Given the description of an element on the screen output the (x, y) to click on. 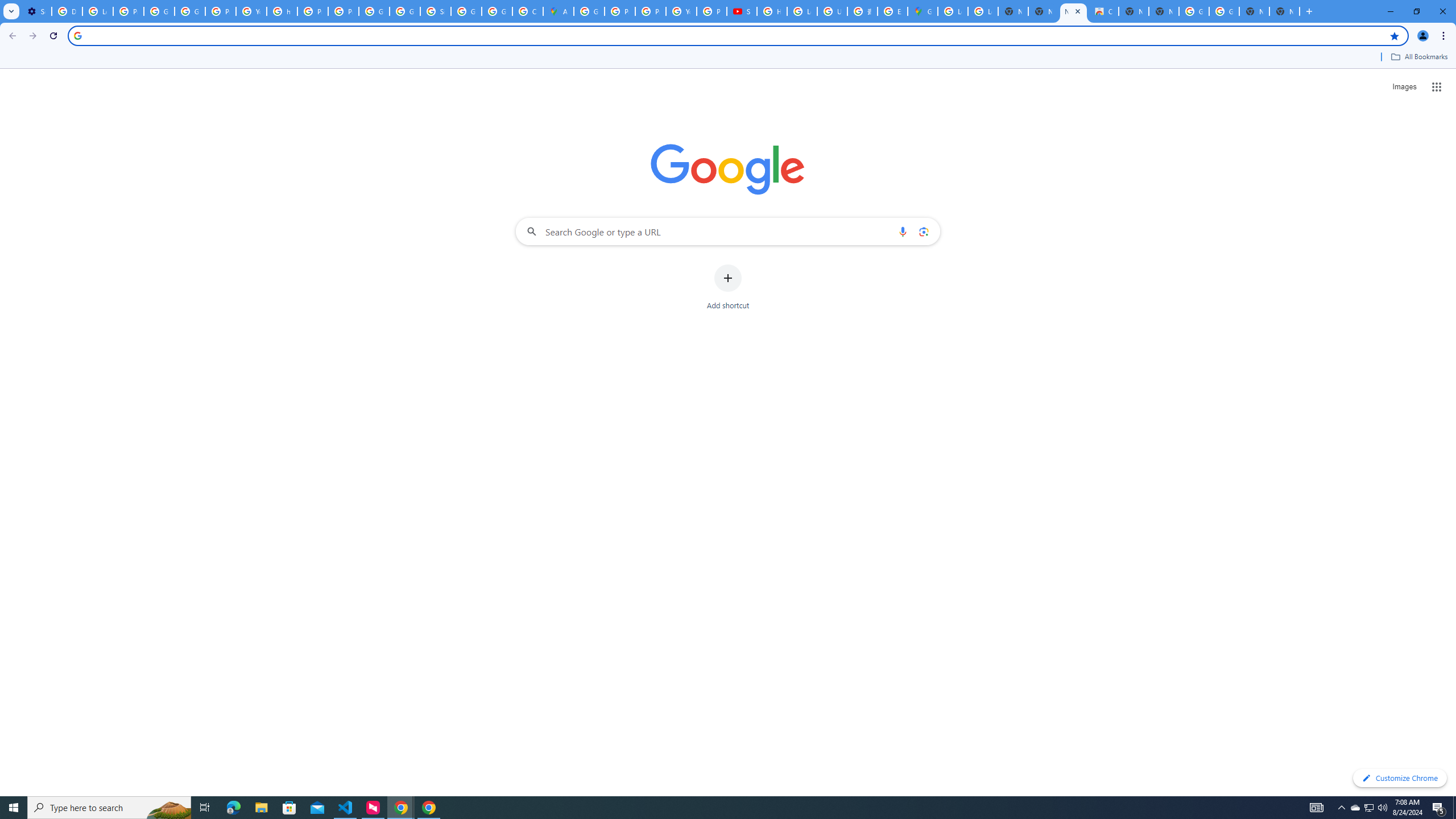
https://scholar.google.com/ (282, 11)
Delete photos & videos - Computer - Google Photos Help (66, 11)
Google Images (1193, 11)
Create your Google Account (527, 11)
Search by image (922, 230)
Privacy Help Center - Policies Help (312, 11)
Subscriptions - YouTube (741, 11)
